Given the description of an element on the screen output the (x, y) to click on. 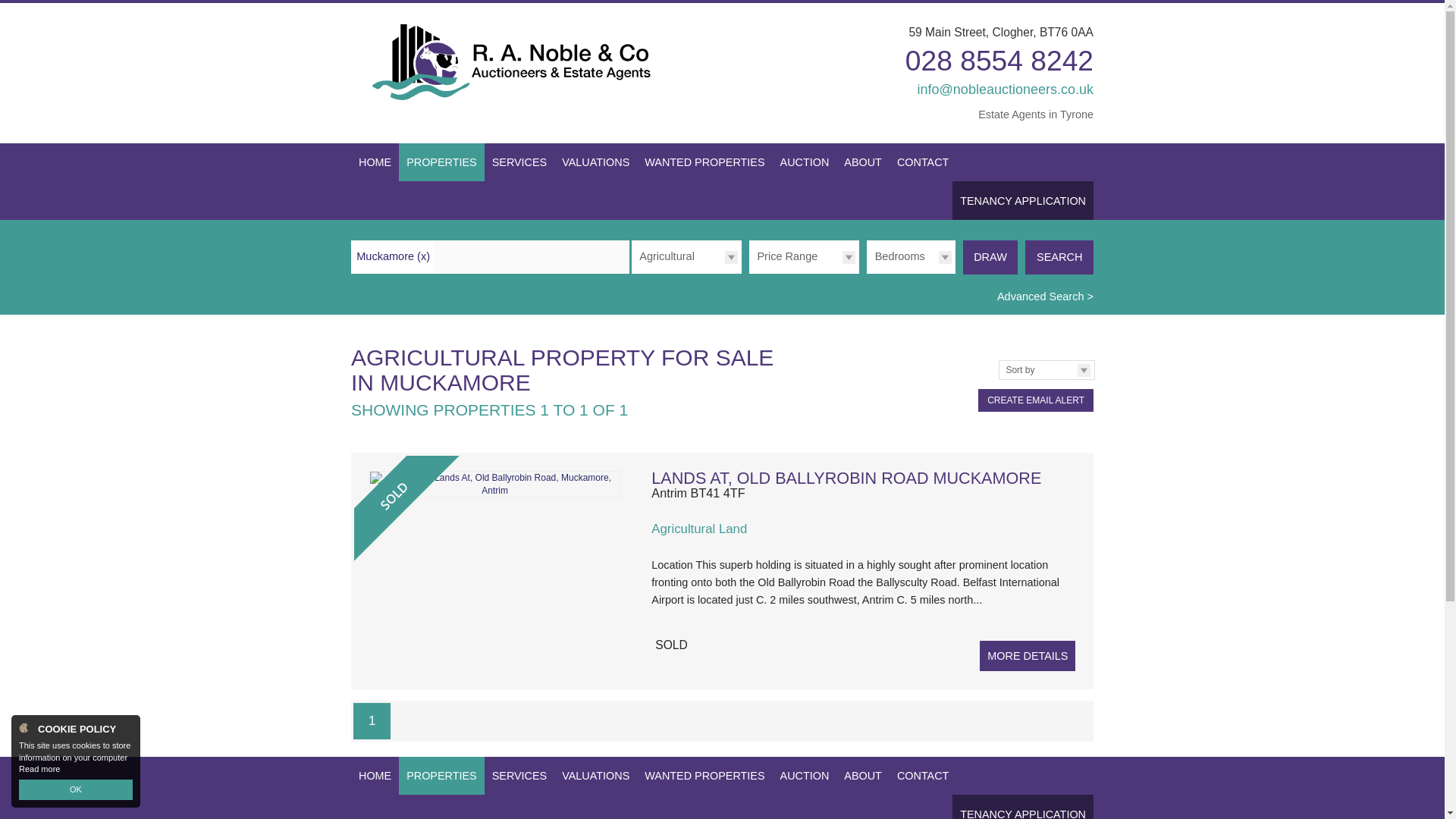
028 8554 8242 (999, 60)
TENANCY APPLICATION (1022, 199)
VALUATIONS (595, 161)
CONTACT (922, 161)
Agricultural (686, 256)
AUCTION (805, 161)
list (1059, 256)
HOME (374, 161)
draw (989, 256)
SERVICES (519, 161)
WANTED PROPERTIES (704, 161)
